Given the description of an element on the screen output the (x, y) to click on. 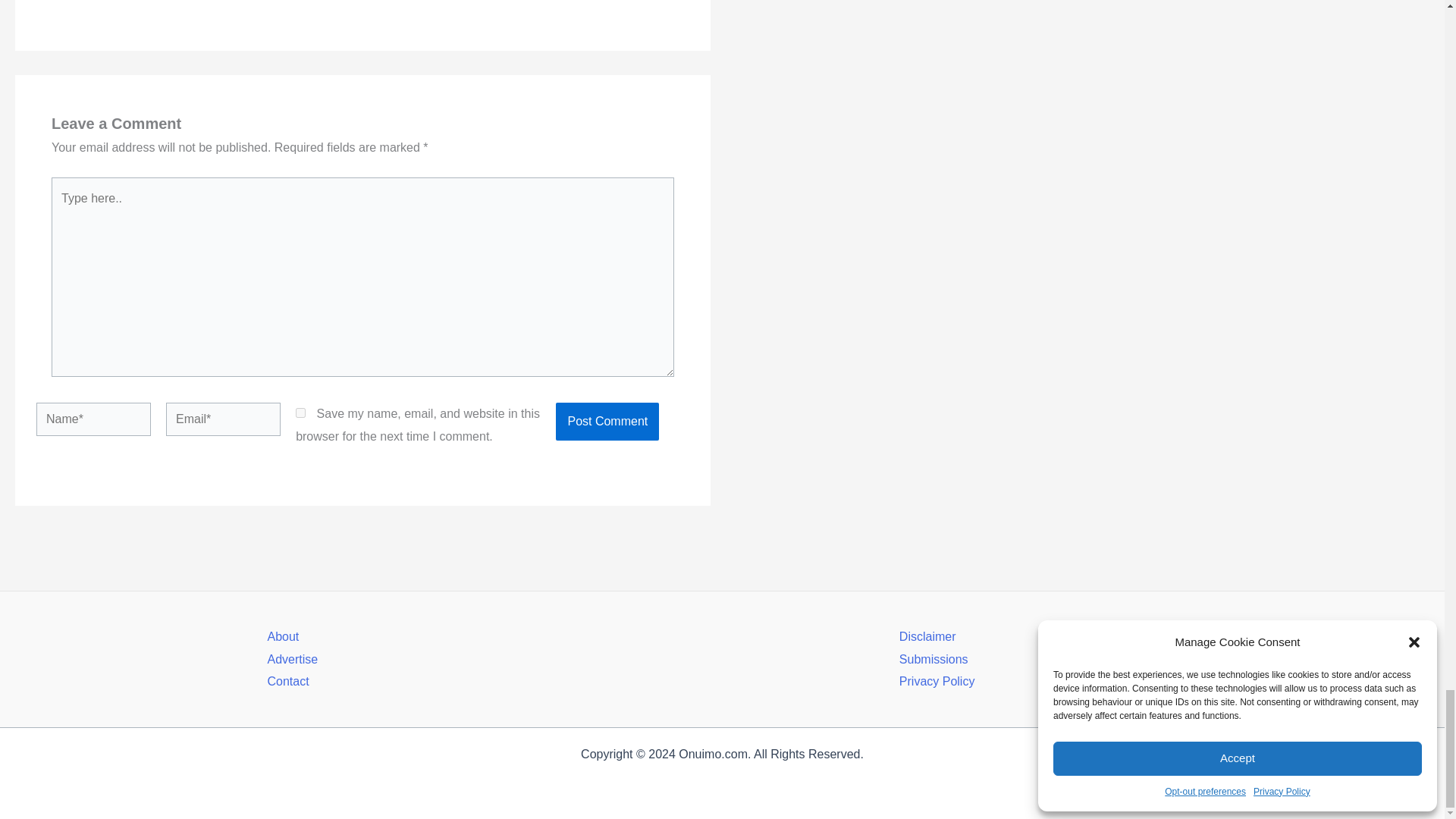
yes (300, 412)
Post Comment (607, 421)
